Given the description of an element on the screen output the (x, y) to click on. 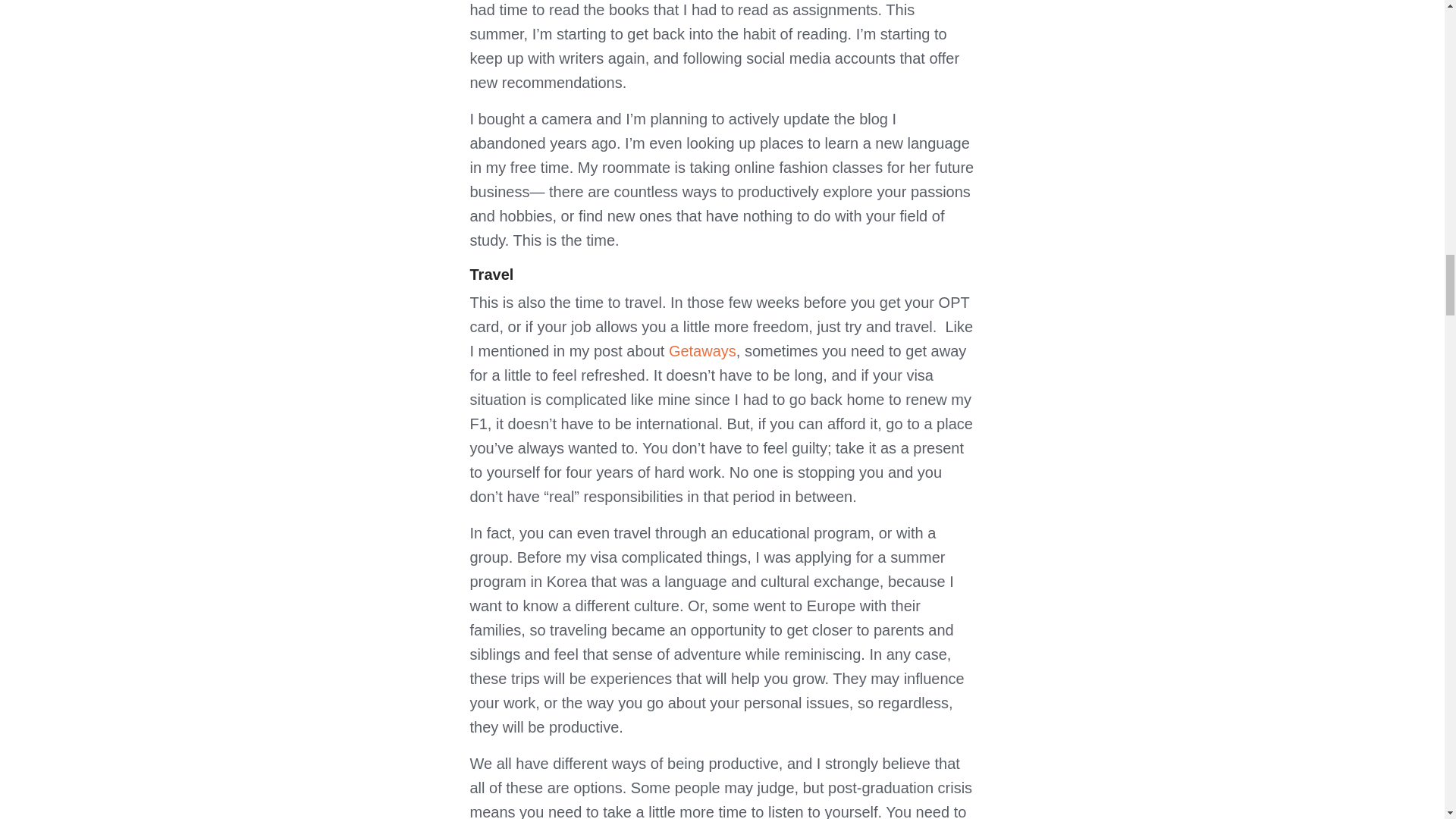
Getaways (702, 351)
